Given the description of an element on the screen output the (x, y) to click on. 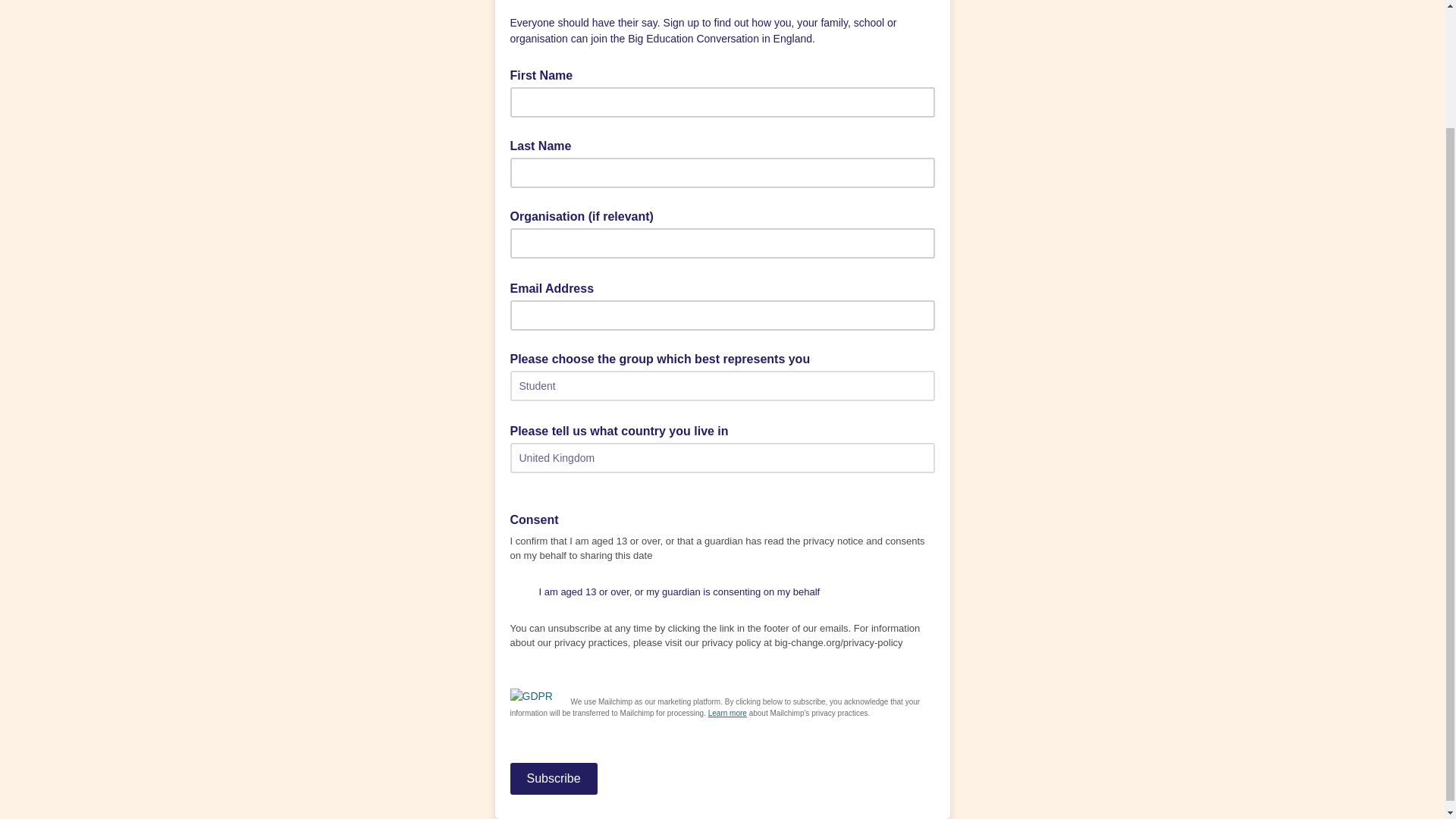
Subscribe (552, 778)
Learn more (726, 713)
Subscribe (552, 778)
